Given the description of an element on the screen output the (x, y) to click on. 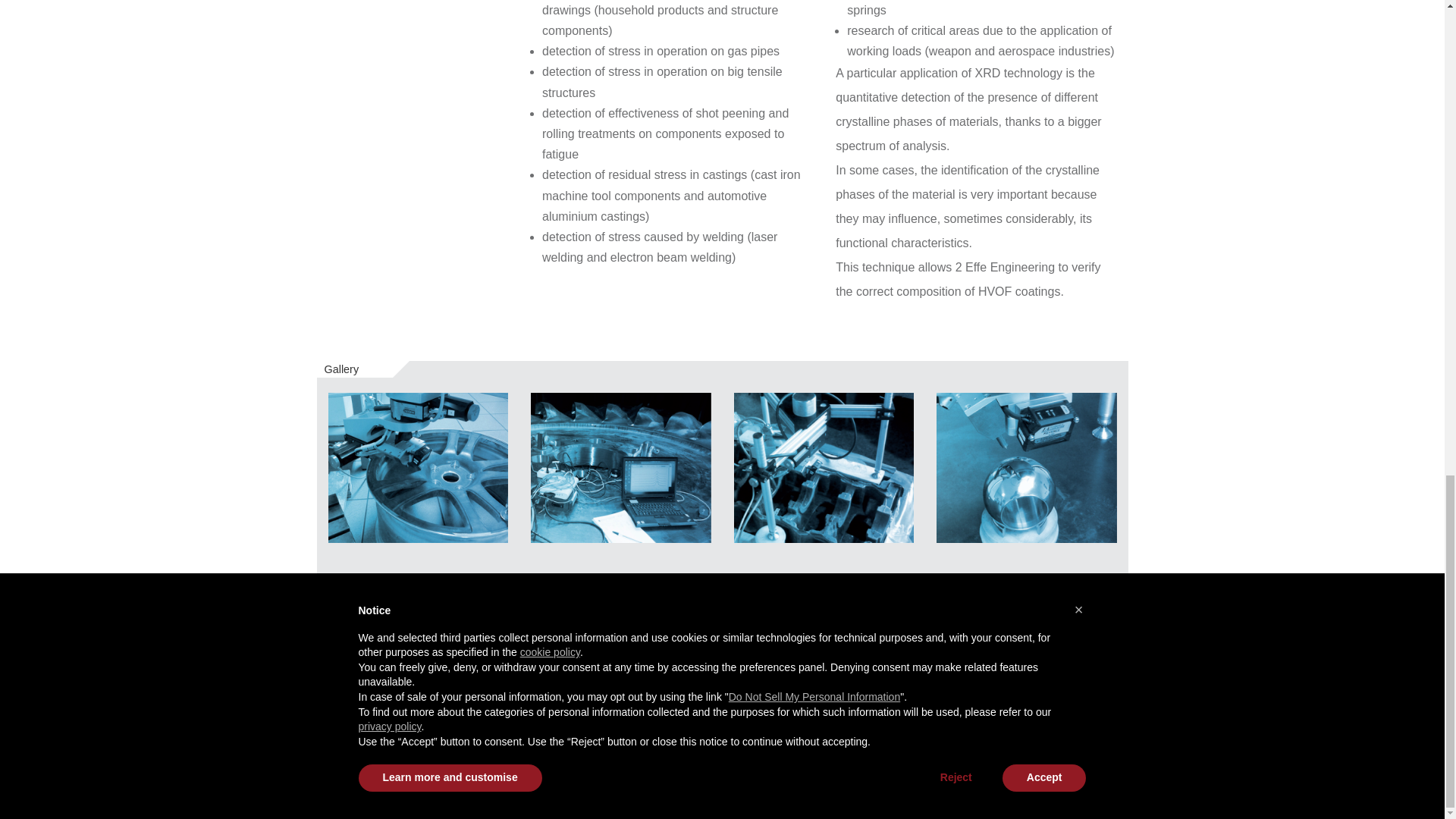
COOKIE POLICY (1085, 757)
PRIVACY POLICY (1084, 721)
Individuazione dell'austenite residua (621, 467)
Servizio di Diffrazione dei Raggi X (1026, 467)
Diffrazione dei Raggi X (417, 467)
Tecnica di diffrazione dei Raggi X (823, 467)
